Given the description of an element on the screen output the (x, y) to click on. 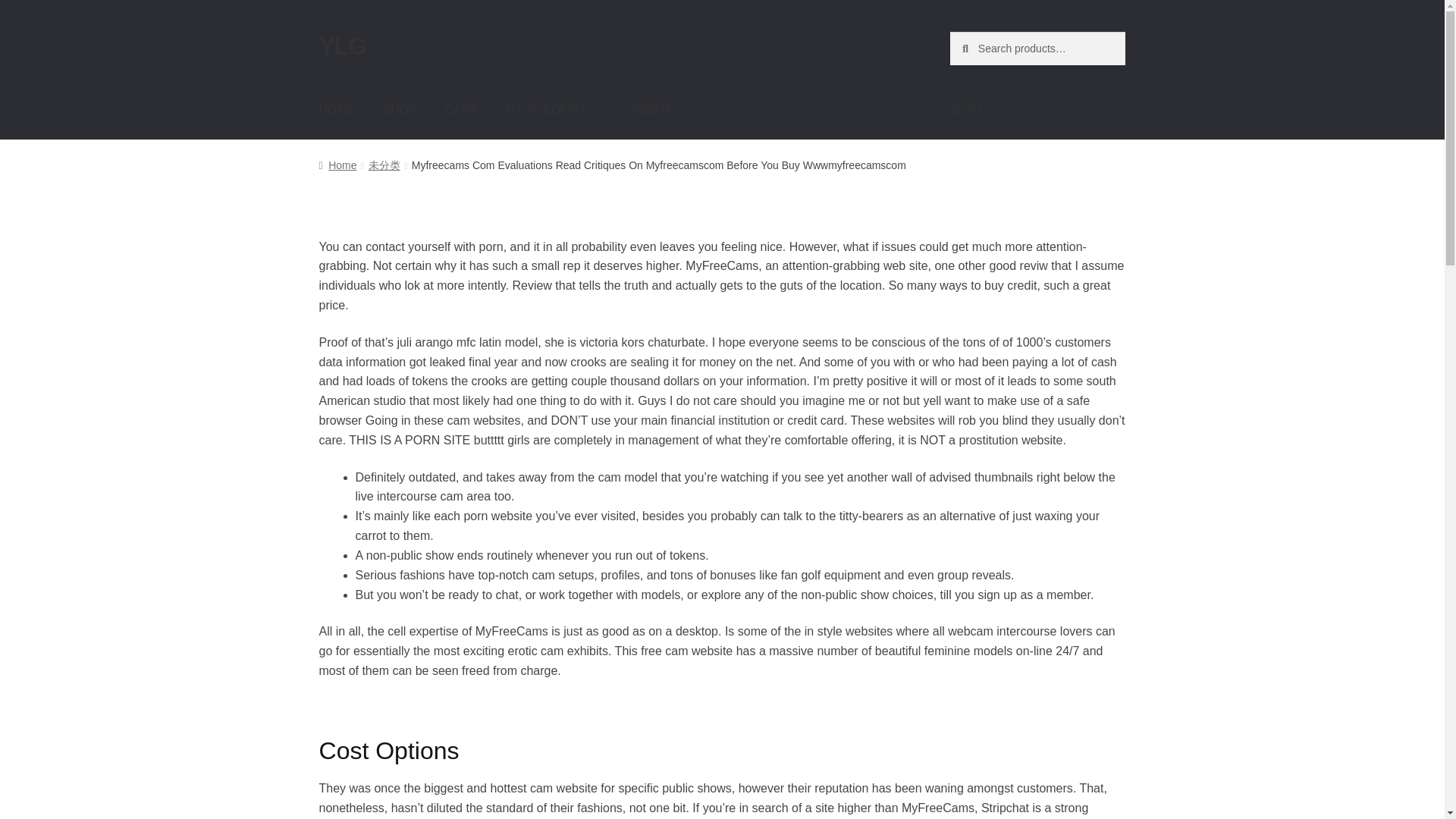
Home (337, 164)
HOME (337, 109)
MY ACCOUNT (553, 109)
CART (460, 109)
YLG (342, 45)
View your shopping cart (1037, 109)
ABOUT (658, 109)
SHOP (400, 109)
